Given the description of an element on the screen output the (x, y) to click on. 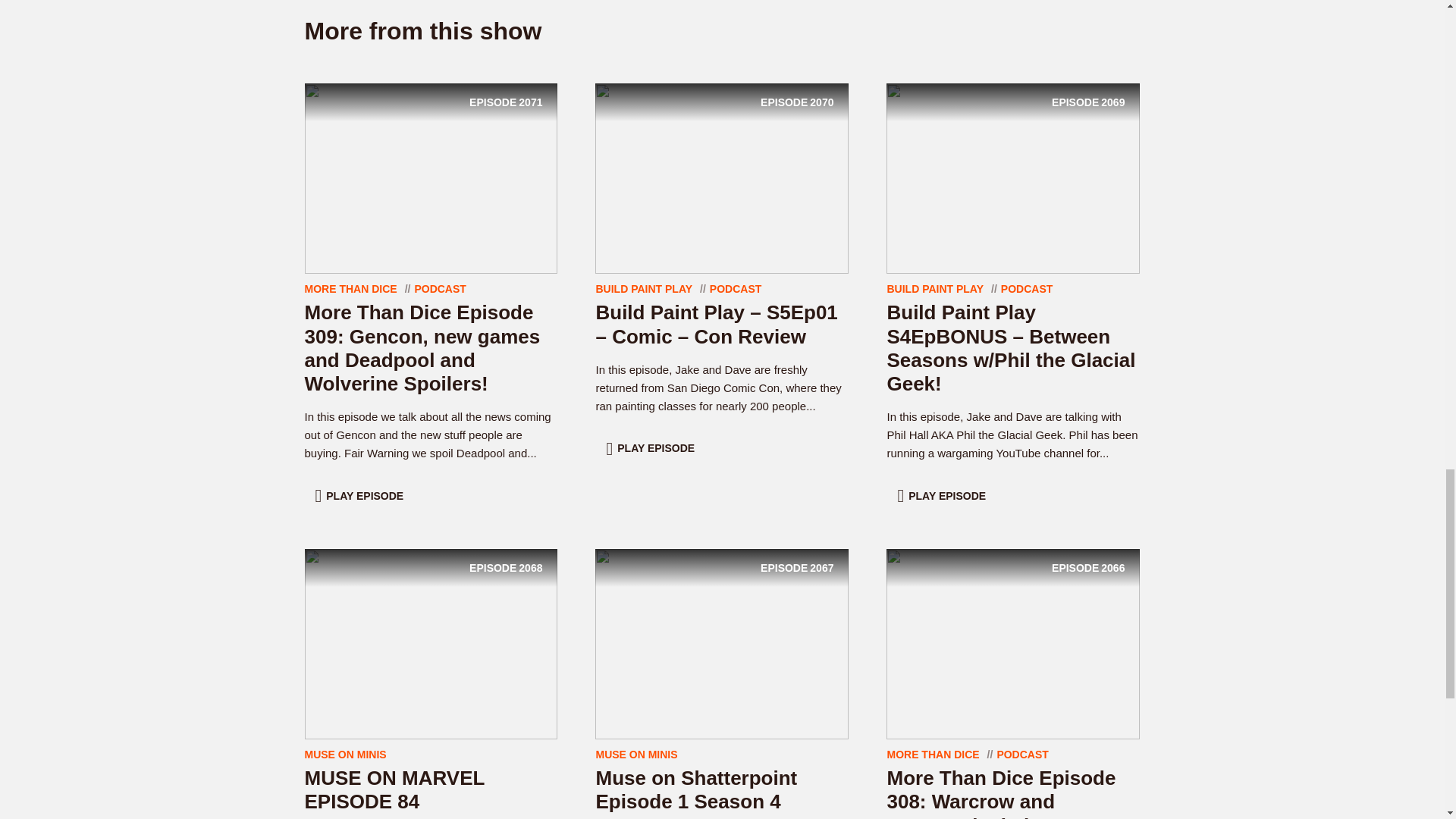
MORE THAN DICE (350, 288)
